Given the description of an element on the screen output the (x, y) to click on. 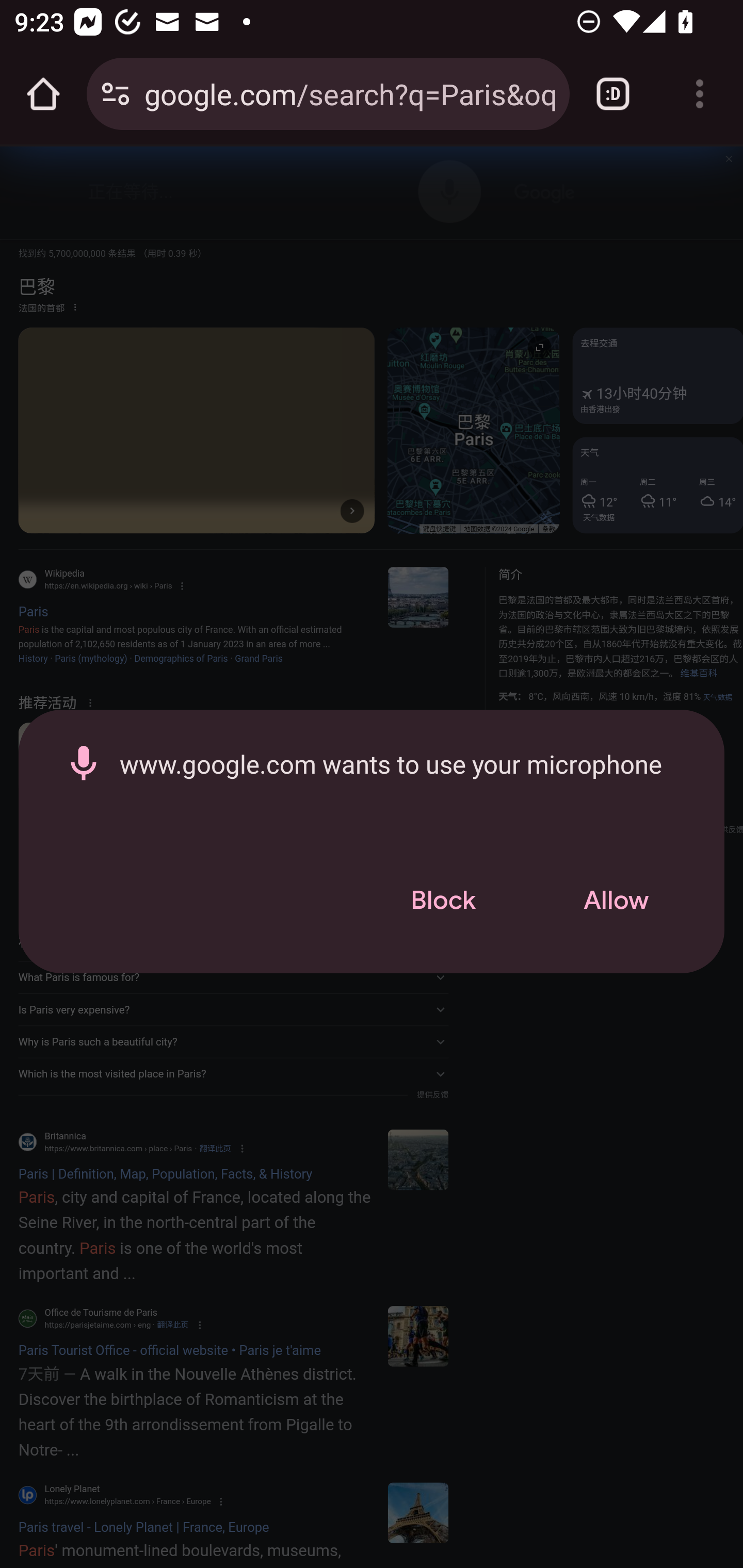
Open the home page (43, 93)
Connection is secure (115, 93)
Switch or close tabs (612, 93)
Customize and control Google Chrome (699, 93)
Block (442, 900)
Allow (615, 900)
